Given the description of an element on the screen output the (x, y) to click on. 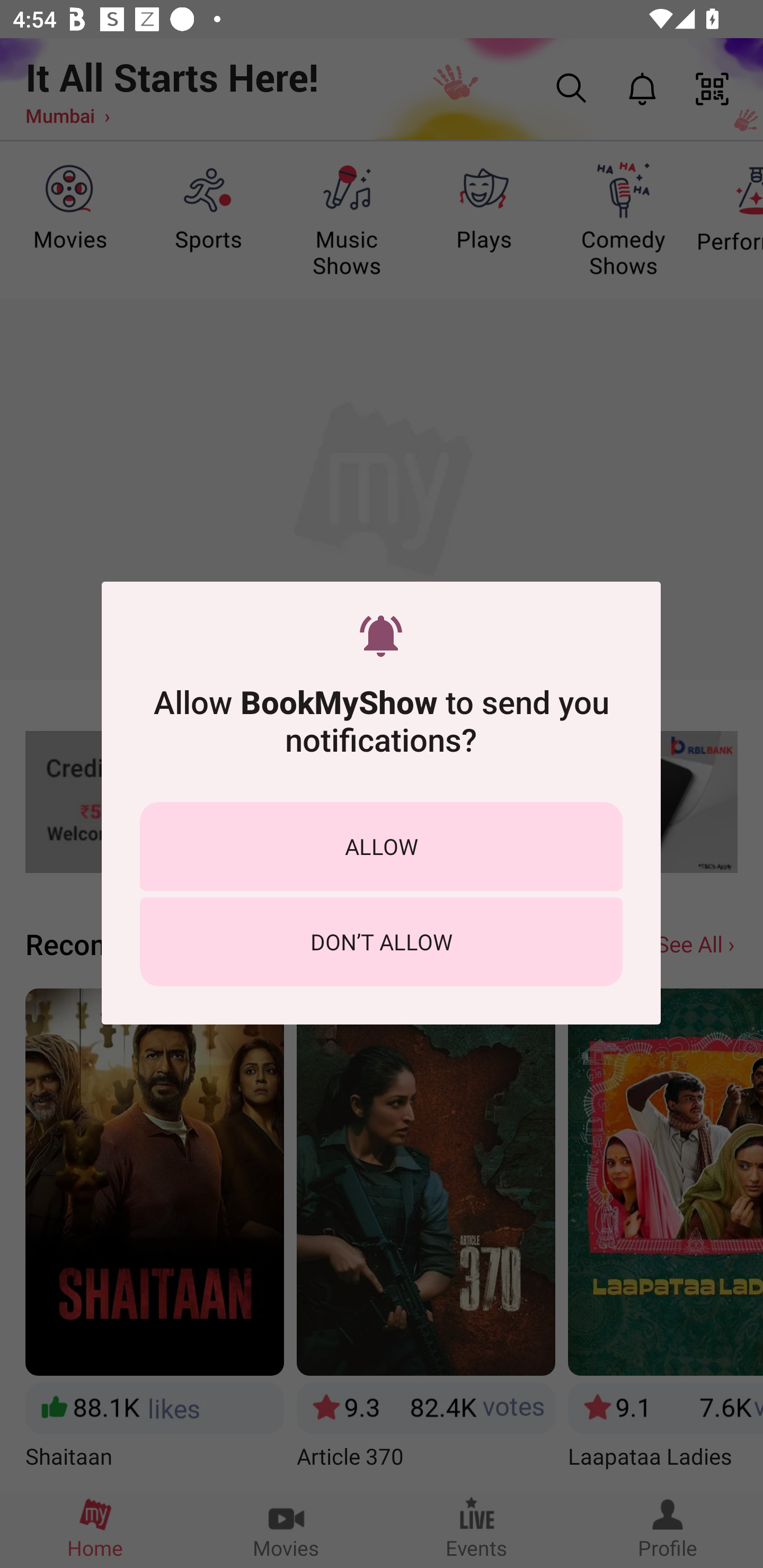
ALLOW (380, 845)
DON’T ALLOW (380, 941)
